Given the description of an element on the screen output the (x, y) to click on. 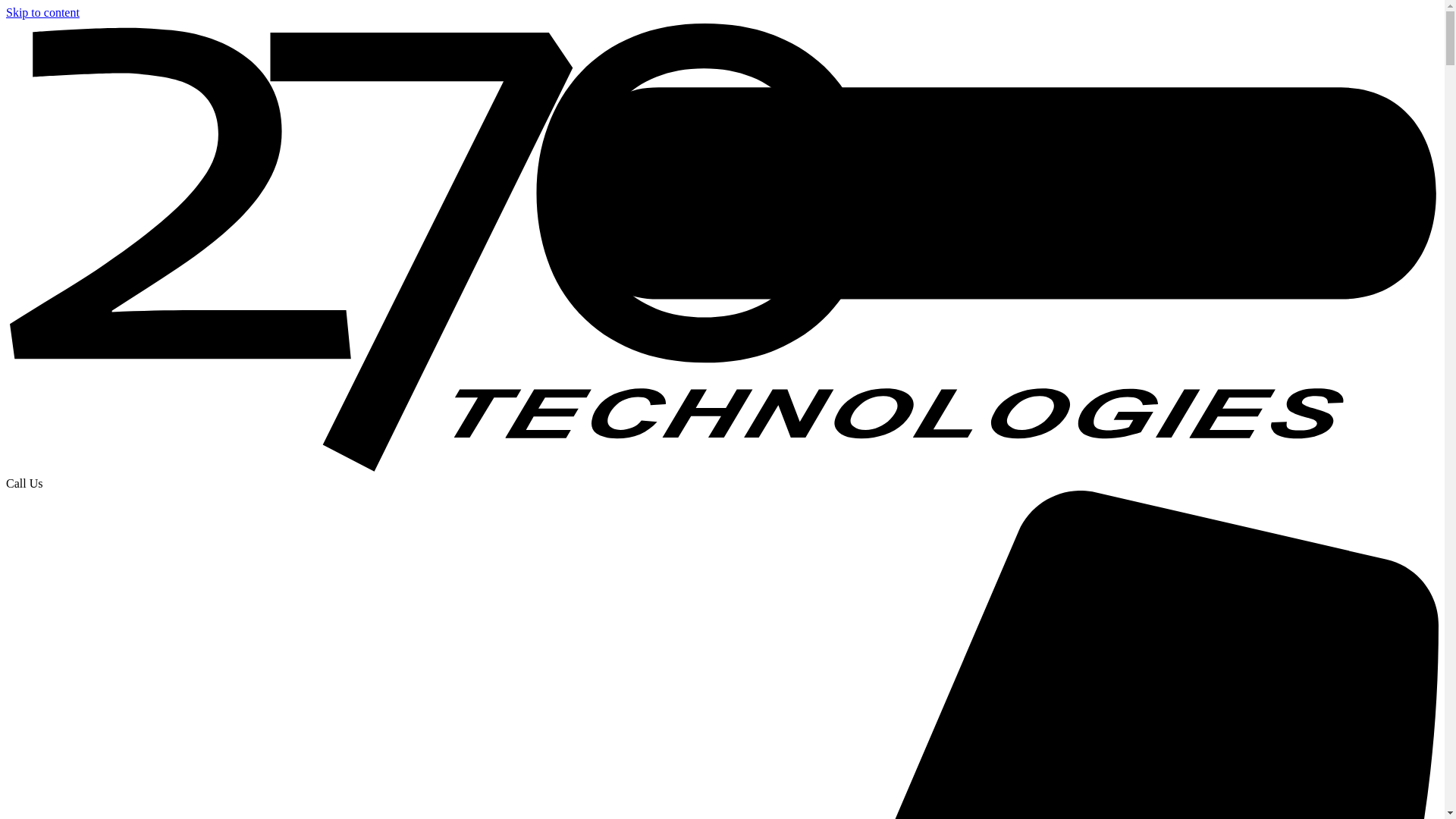
Skip to content Element type: text (42, 12)
270net Technologies Element type: text (722, 469)
